Given the description of an element on the screen output the (x, y) to click on. 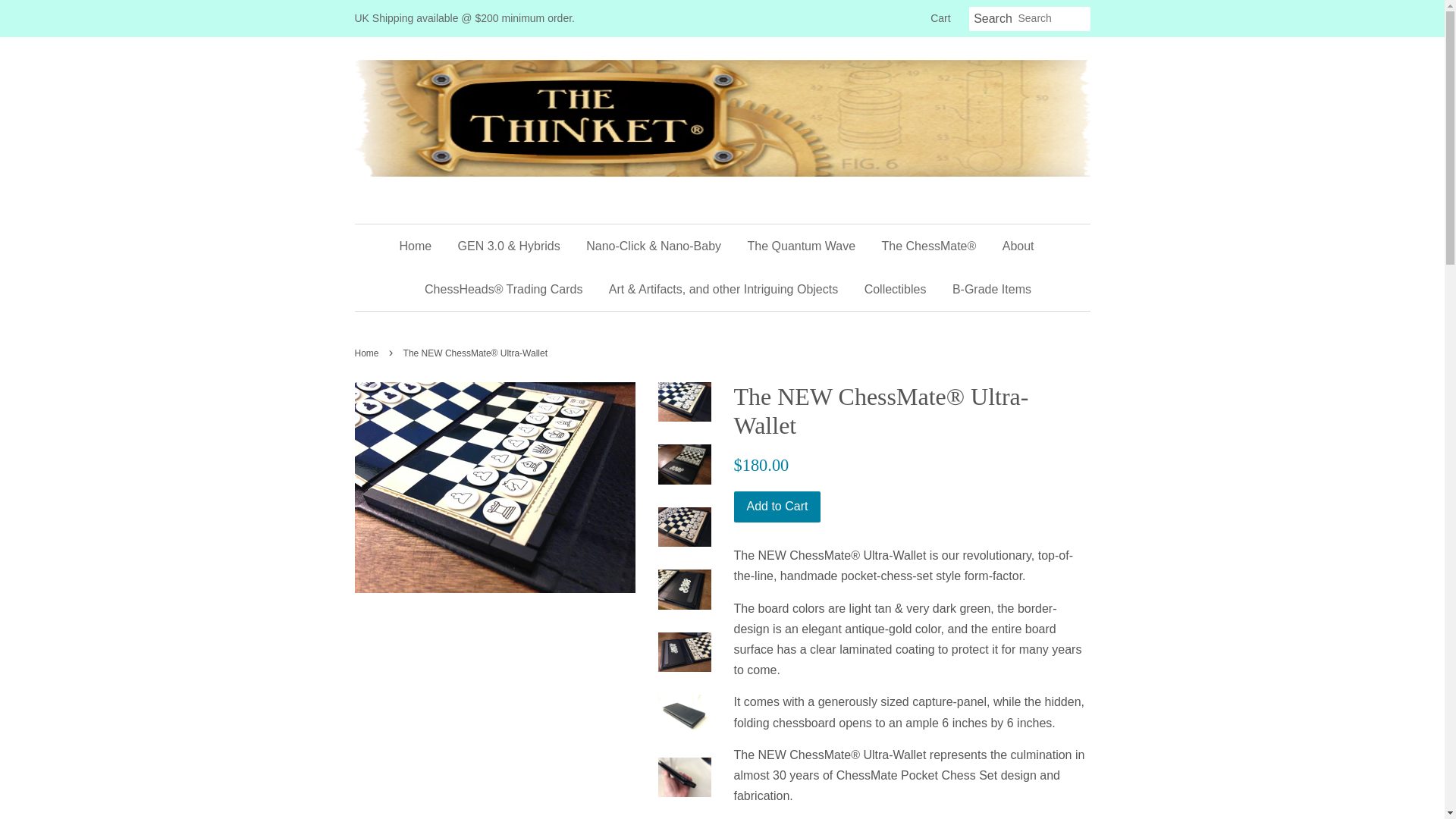
Search (993, 18)
Home (420, 245)
Back to the frontpage (368, 353)
Home (368, 353)
Collectibles (895, 289)
Cart (940, 18)
The Quantum Wave (801, 245)
B-Grade Items (985, 289)
About (1018, 245)
